Given the description of an element on the screen output the (x, y) to click on. 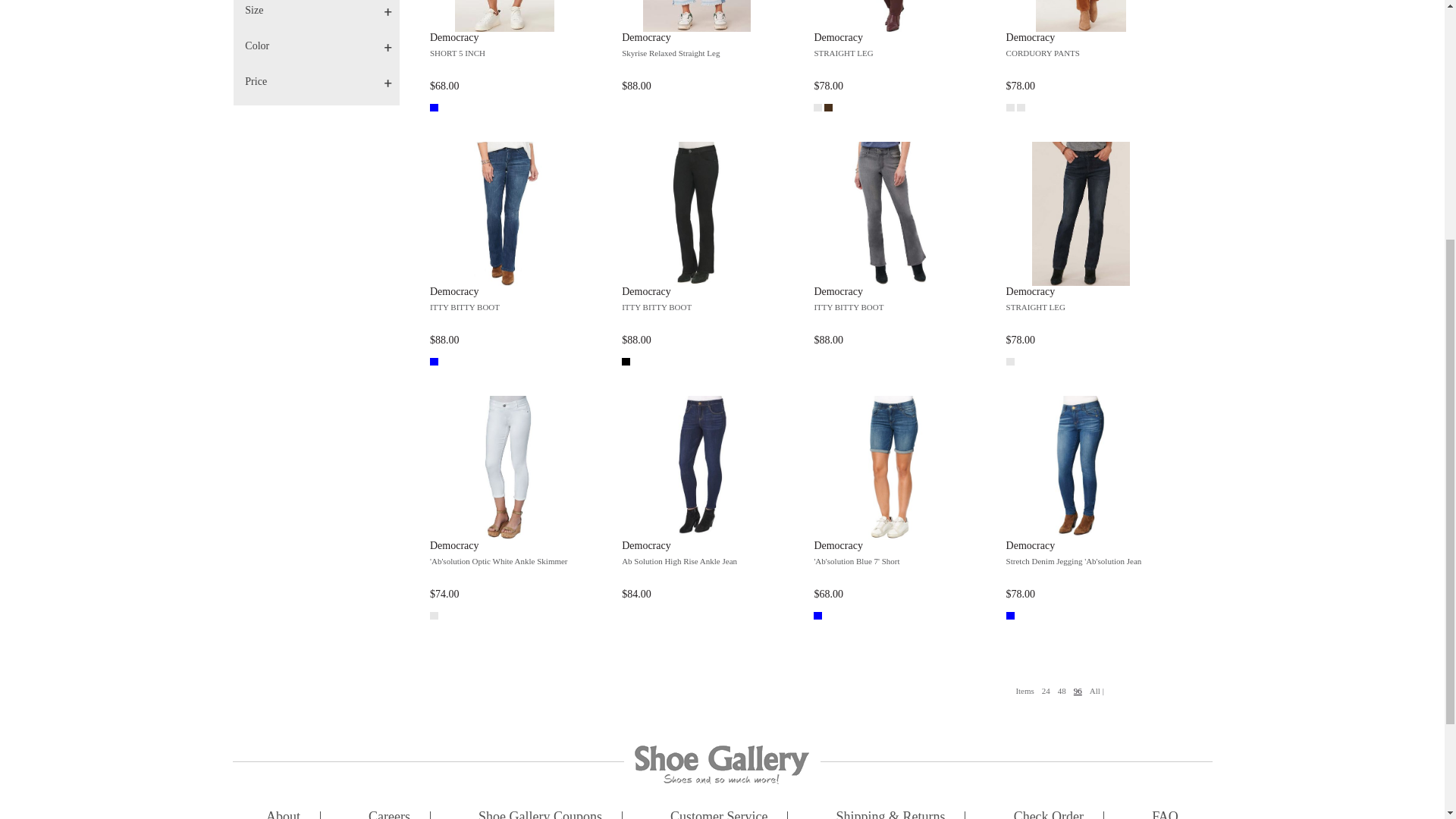
SHADOW (828, 107)
RSTDPECAN (1010, 107)
Color (321, 46)
Price (321, 82)
Size (321, 10)
LTBLUE (433, 107)
